Given the description of an element on the screen output the (x, y) to click on. 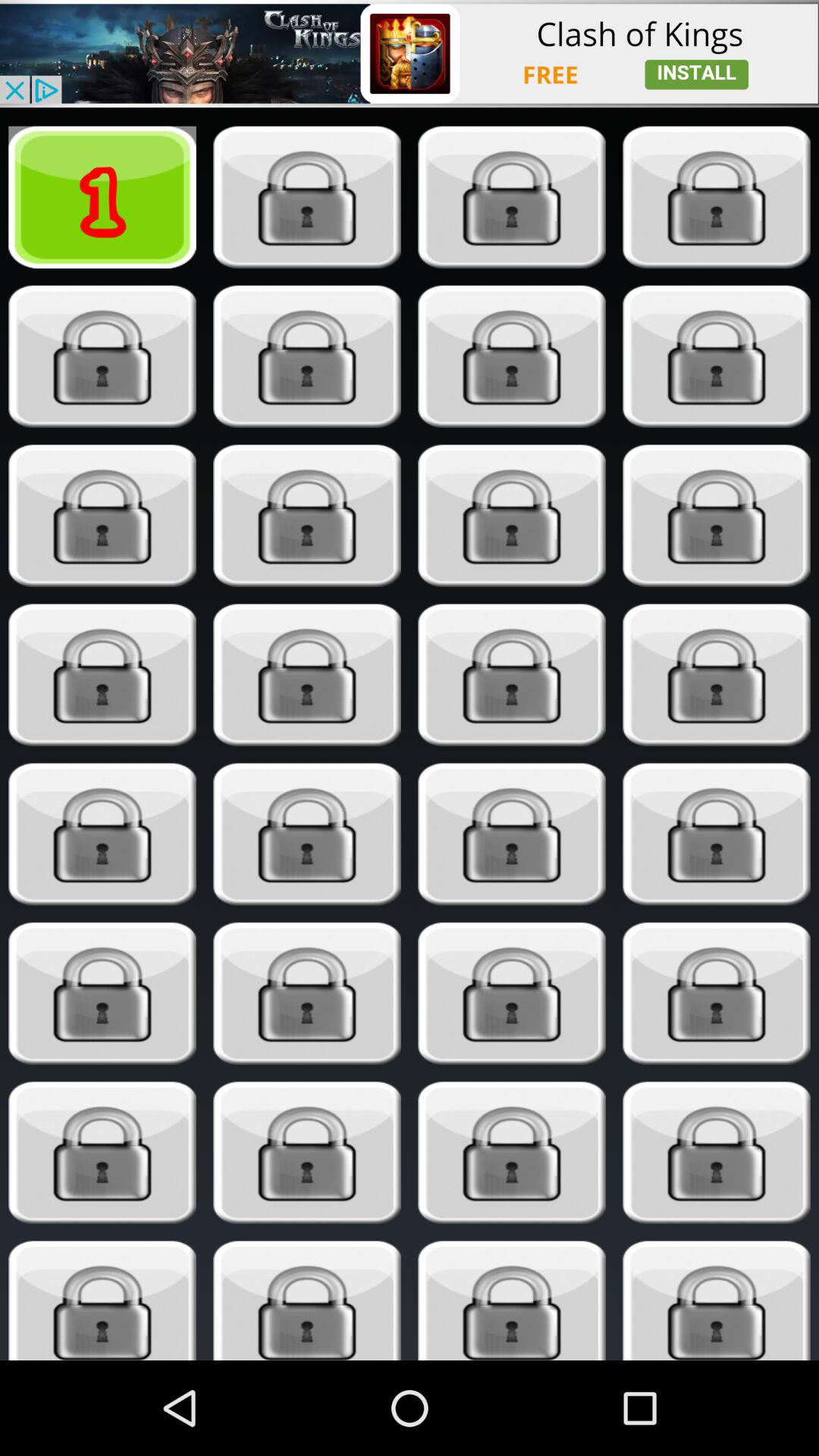
select the image (716, 834)
